Given the description of an element on the screen output the (x, y) to click on. 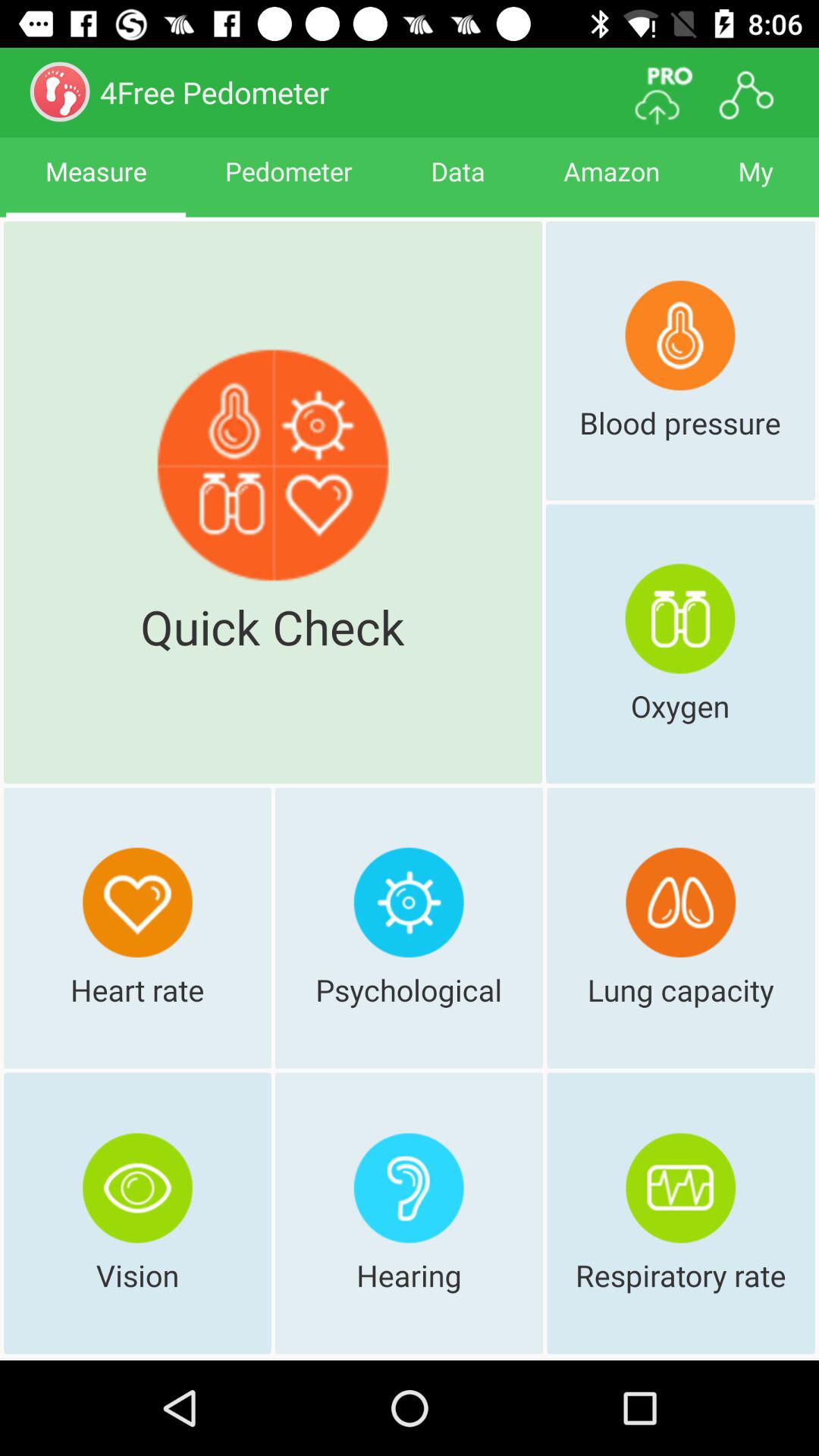
open item to the left of the my (611, 185)
